Given the description of an element on the screen output the (x, y) to click on. 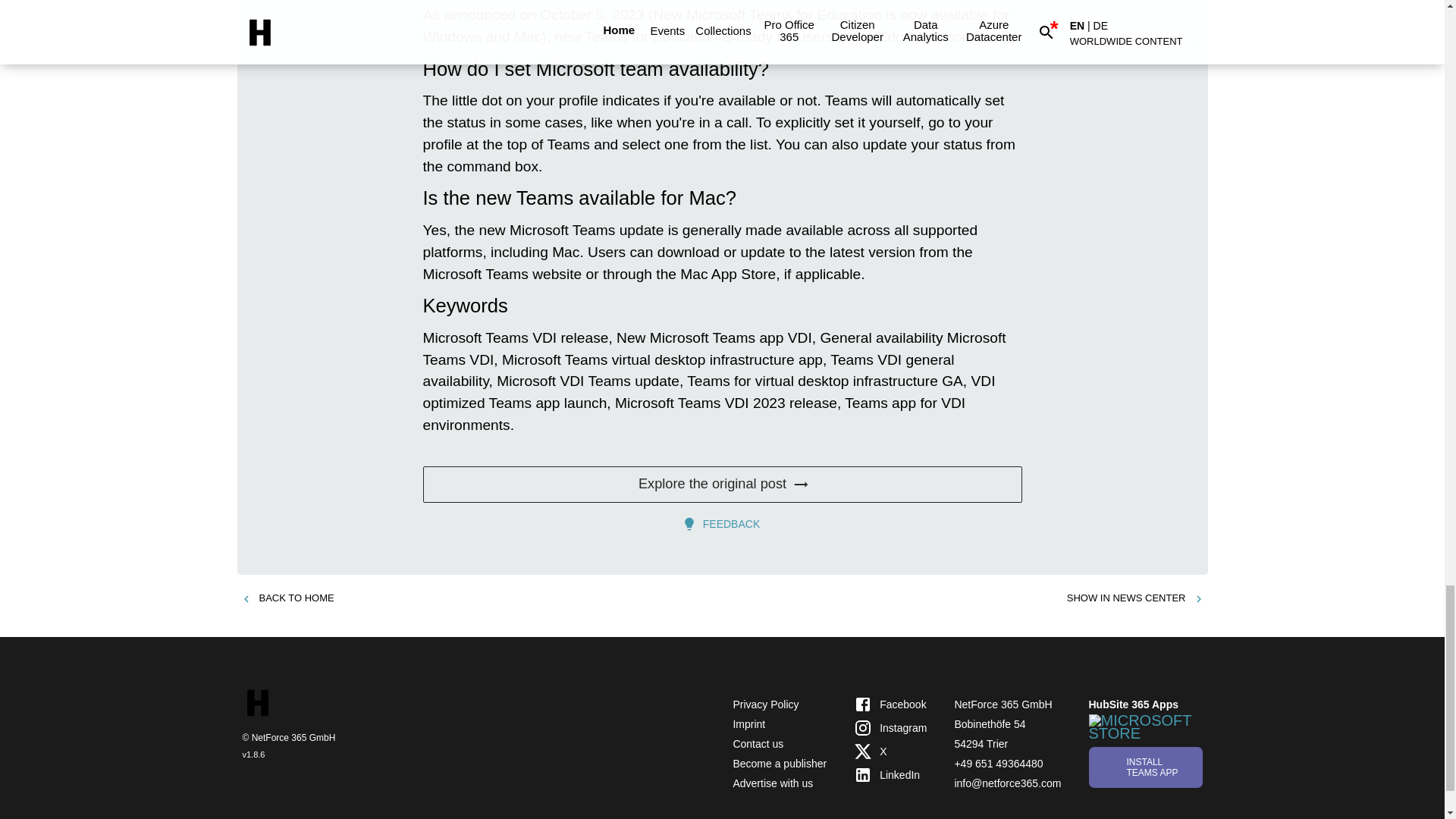
SHOW IN NEWS CENTER (1135, 598)
Become a publisher (779, 763)
Contact us (757, 743)
Advertise with us (772, 783)
Privacy Policy (764, 704)
X (889, 751)
Explore the original post (722, 484)
Facebook (889, 704)
Instagram (889, 727)
FEEDBACK (721, 524)
